Given the description of an element on the screen output the (x, y) to click on. 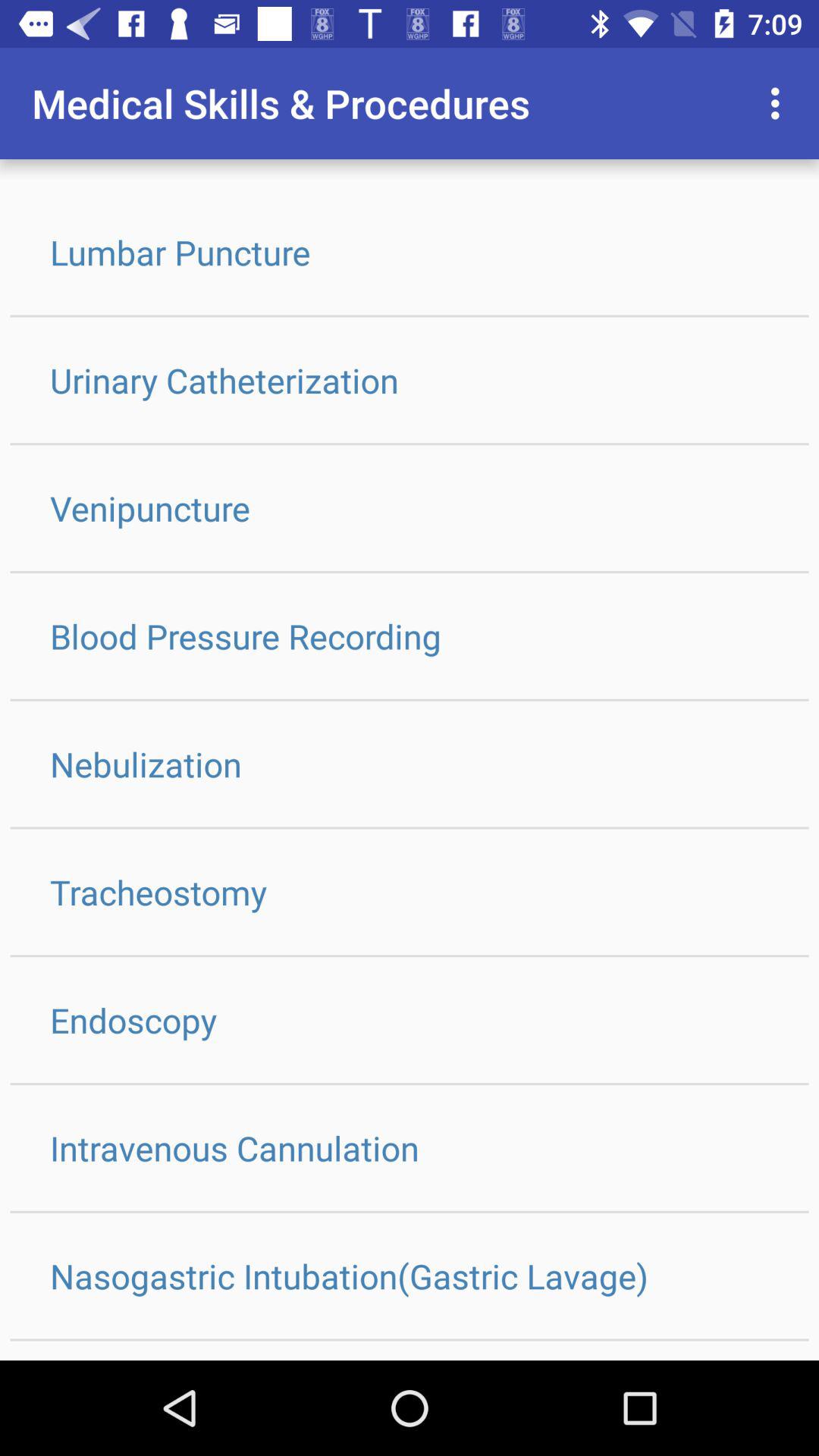
turn off the venipuncture (409, 508)
